Given the description of an element on the screen output the (x, y) to click on. 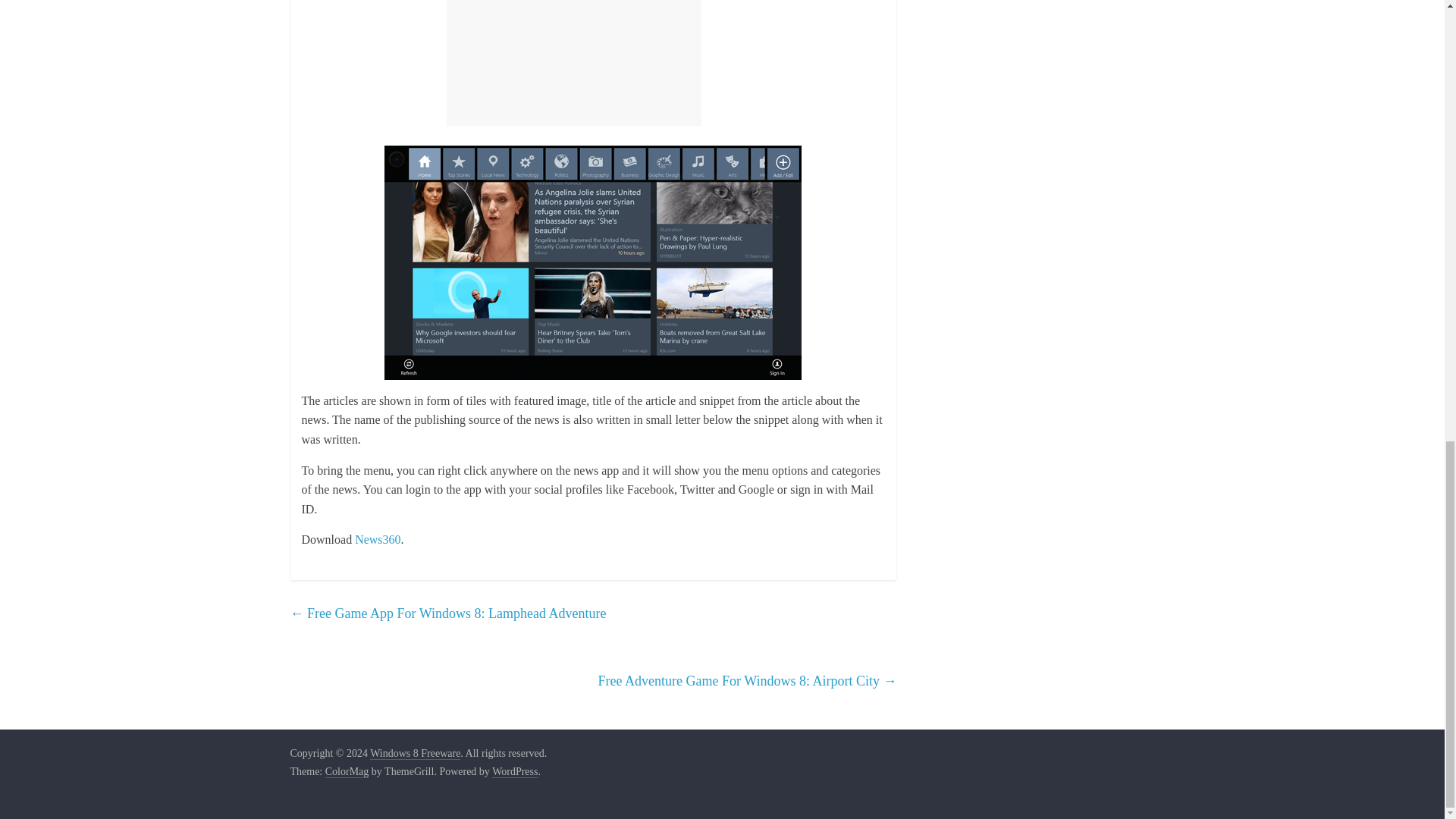
News360 (377, 539)
ColorMag (346, 771)
Windows 8 Freeware (414, 753)
News360 (377, 539)
